Given the description of an element on the screen output the (x, y) to click on. 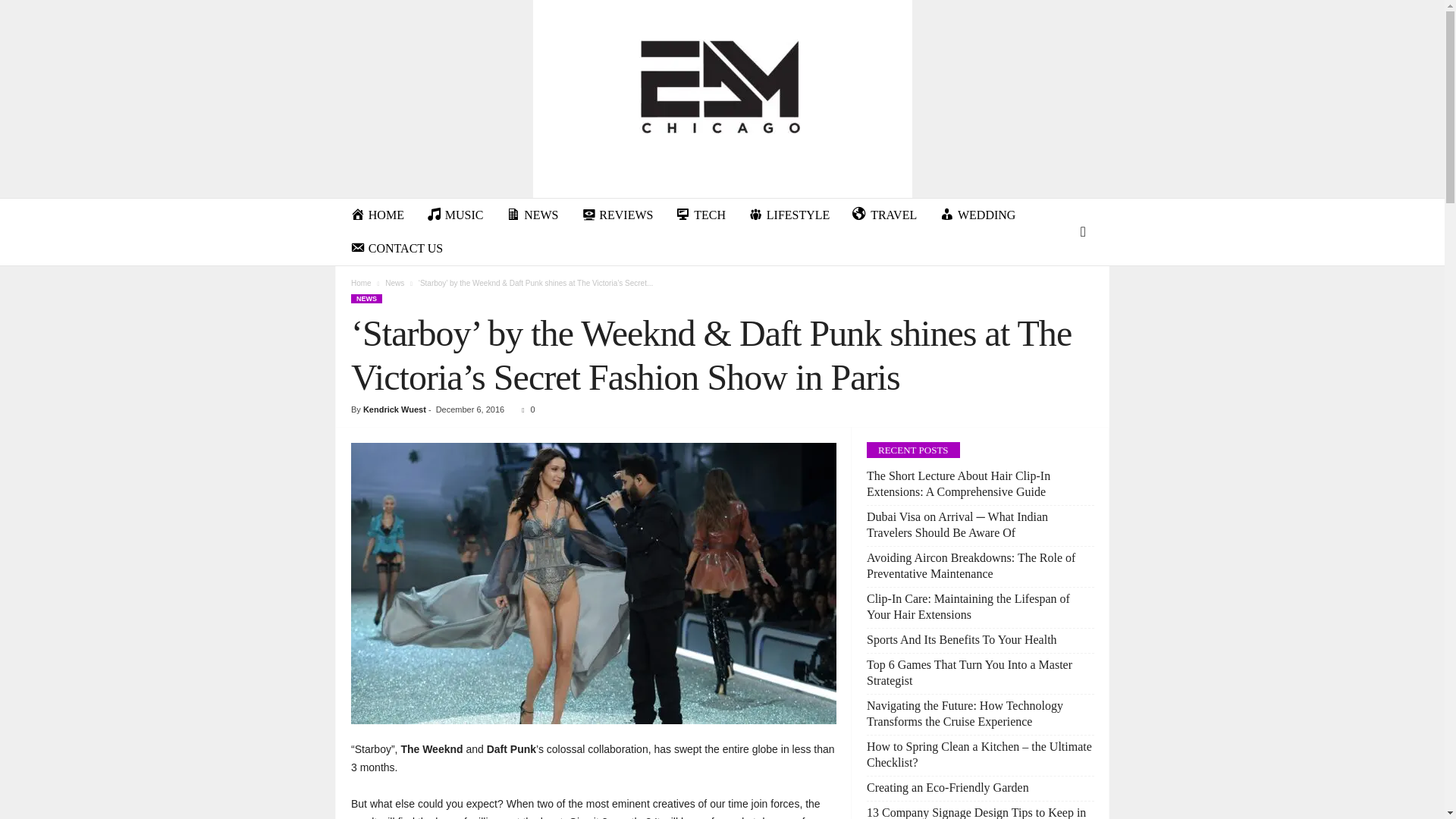
Home (360, 283)
REVIEWS (617, 215)
TECH (699, 215)
NEWS (532, 215)
LIFESTYLE (788, 215)
View all posts in News (394, 283)
CONTACT US (396, 248)
WEDDING (977, 215)
Kendrick Wuest (394, 409)
HOME (376, 215)
TRAVEL (884, 215)
News (394, 283)
NEWS (365, 298)
0 (524, 409)
MUSIC (454, 215)
